Given the description of an element on the screen output the (x, y) to click on. 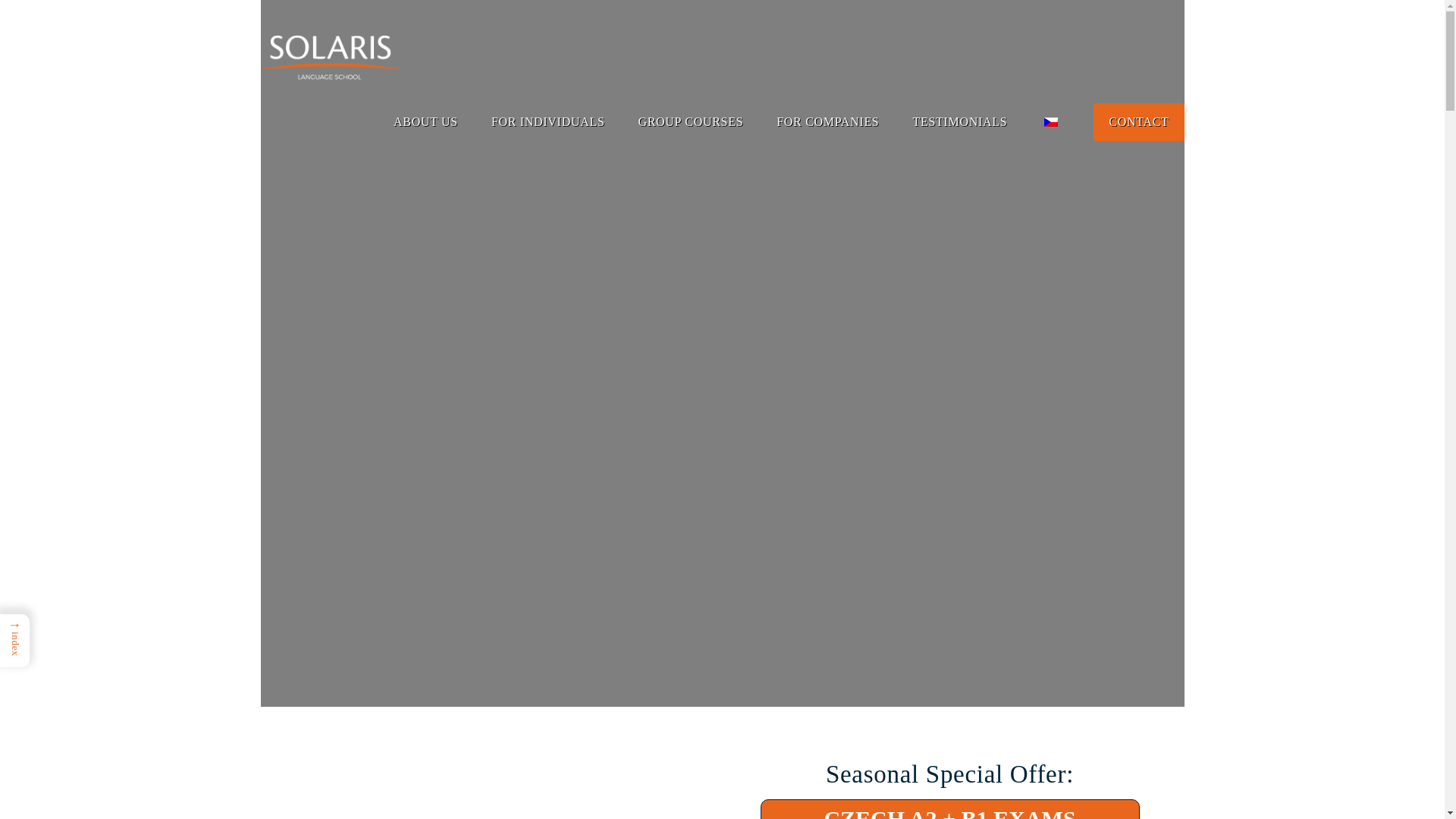
CONTACT (1138, 121)
TESTIMONIALS (960, 121)
GROUP COURSES (690, 121)
ABOUT US (425, 121)
FOR INDIVIDUALS (548, 121)
FOR COMPANIES (827, 121)
